Given the description of an element on the screen output the (x, y) to click on. 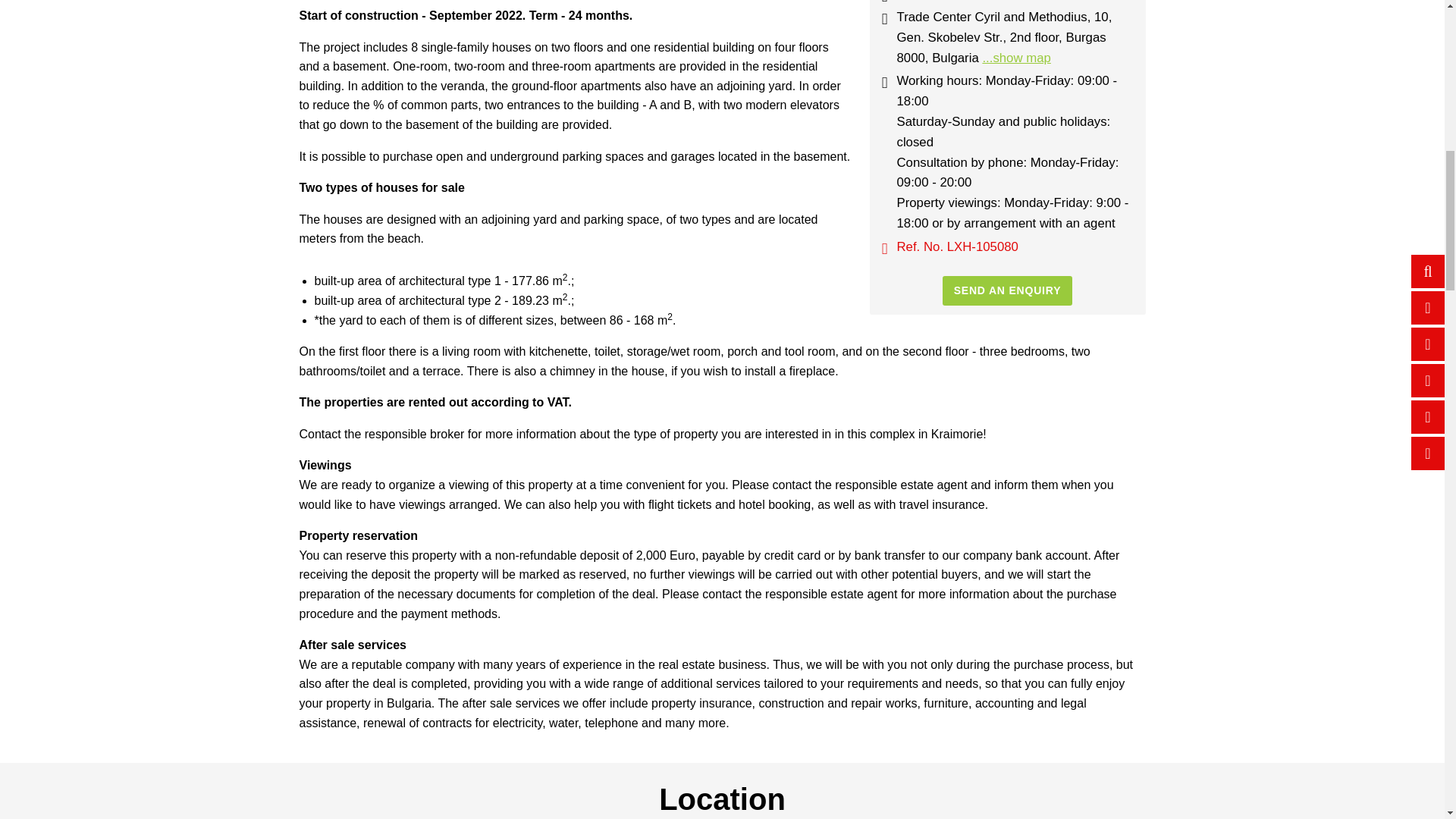
Contact the agent Radina Pireva-Dimitrova (1007, 291)
Working hours (883, 82)
Spoken languages (883, 2)
Office address (883, 19)
